Given the description of an element on the screen output the (x, y) to click on. 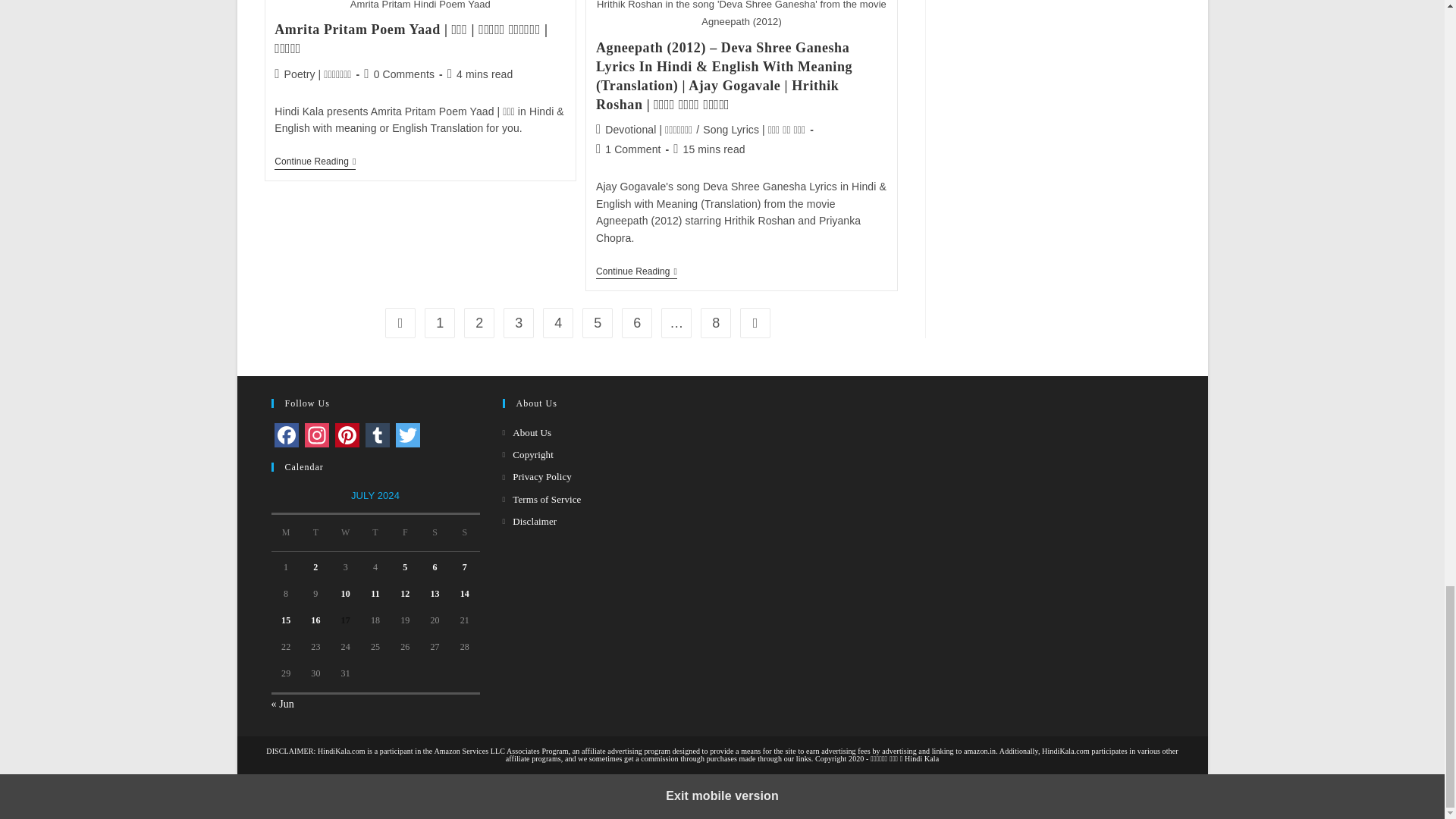
Pinterest (346, 435)
Monday (285, 533)
Instagram (316, 435)
Facebook (285, 435)
Twitter (408, 435)
Tumblr (377, 435)
